Given the description of an element on the screen output the (x, y) to click on. 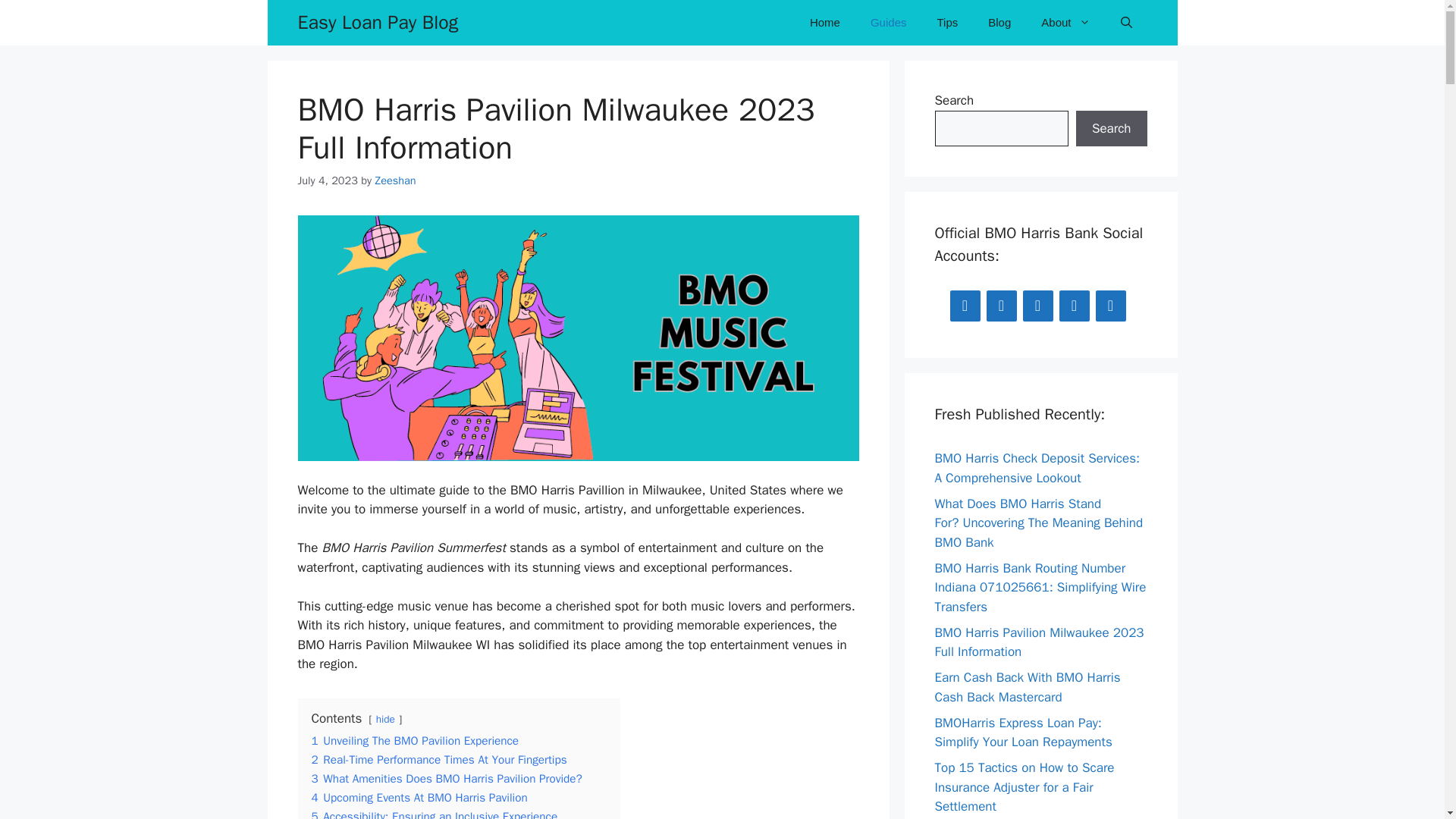
YouTube (1109, 305)
Tips (946, 22)
Home (825, 22)
Blog (999, 22)
3 What Amenities Does BMO Harris Pavilion Provide? (445, 778)
hide (384, 718)
Instagram (1037, 305)
Guides (888, 22)
About (1065, 22)
Zeeshan (394, 180)
1 Unveiling The BMO Pavilion Experience (414, 740)
View all posts by Zeeshan (394, 180)
Facebook (964, 305)
4 Upcoming Events At BMO Harris Pavilion (419, 797)
Easy Loan Pay Blog (377, 22)
